Given the description of an element on the screen output the (x, y) to click on. 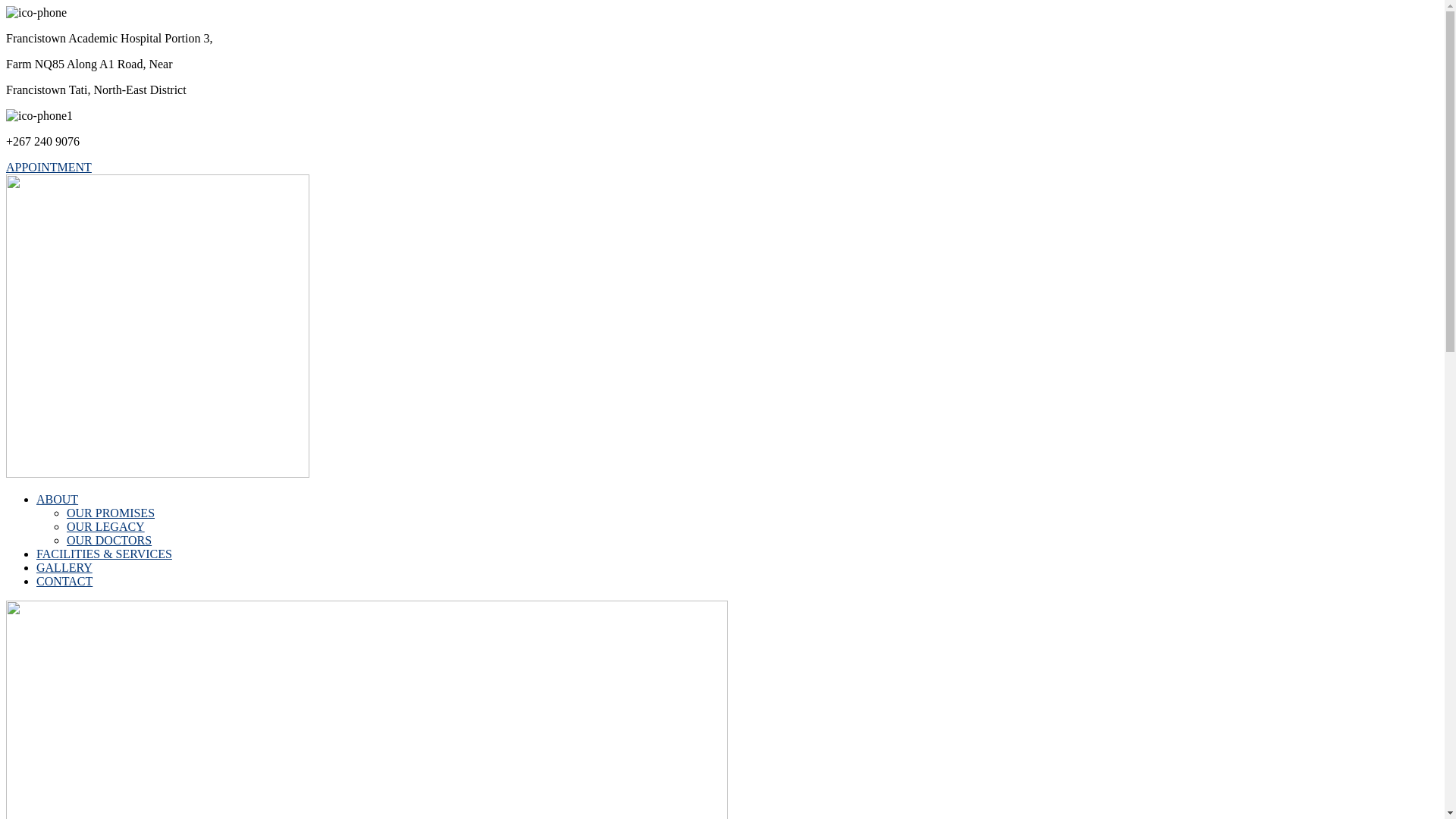
ico-phone Element type: hover (36, 12)
ico-phone1 Element type: hover (39, 115)
APPOINTMENT Element type: text (722, 167)
OUR DOCTORS Element type: text (108, 539)
GALLERY Element type: text (64, 567)
ABOUT Element type: text (57, 498)
OUR PROMISES Element type: text (110, 512)
CONTACT Element type: text (64, 580)
OUR LEGACY Element type: text (105, 526)
FACILITIES & SERVICES Element type: text (104, 553)
